Given the description of an element on the screen output the (x, y) to click on. 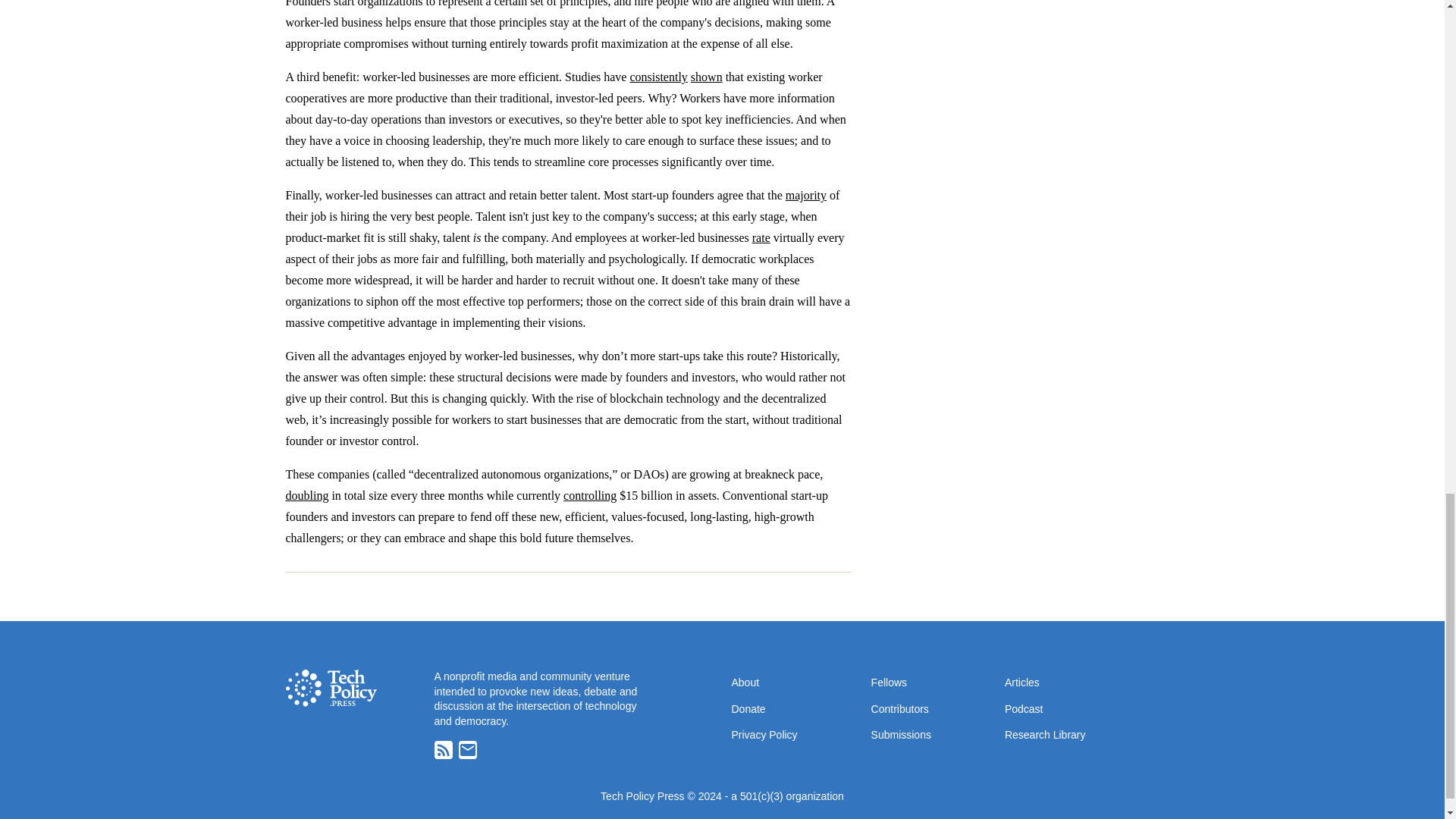
Privacy Policy (763, 734)
About (744, 681)
Donate (747, 707)
consistently (657, 76)
majority (806, 195)
Fellows (888, 681)
controlling (589, 495)
shown (706, 76)
rate (761, 237)
doubling (307, 495)
